Given the description of an element on the screen output the (x, y) to click on. 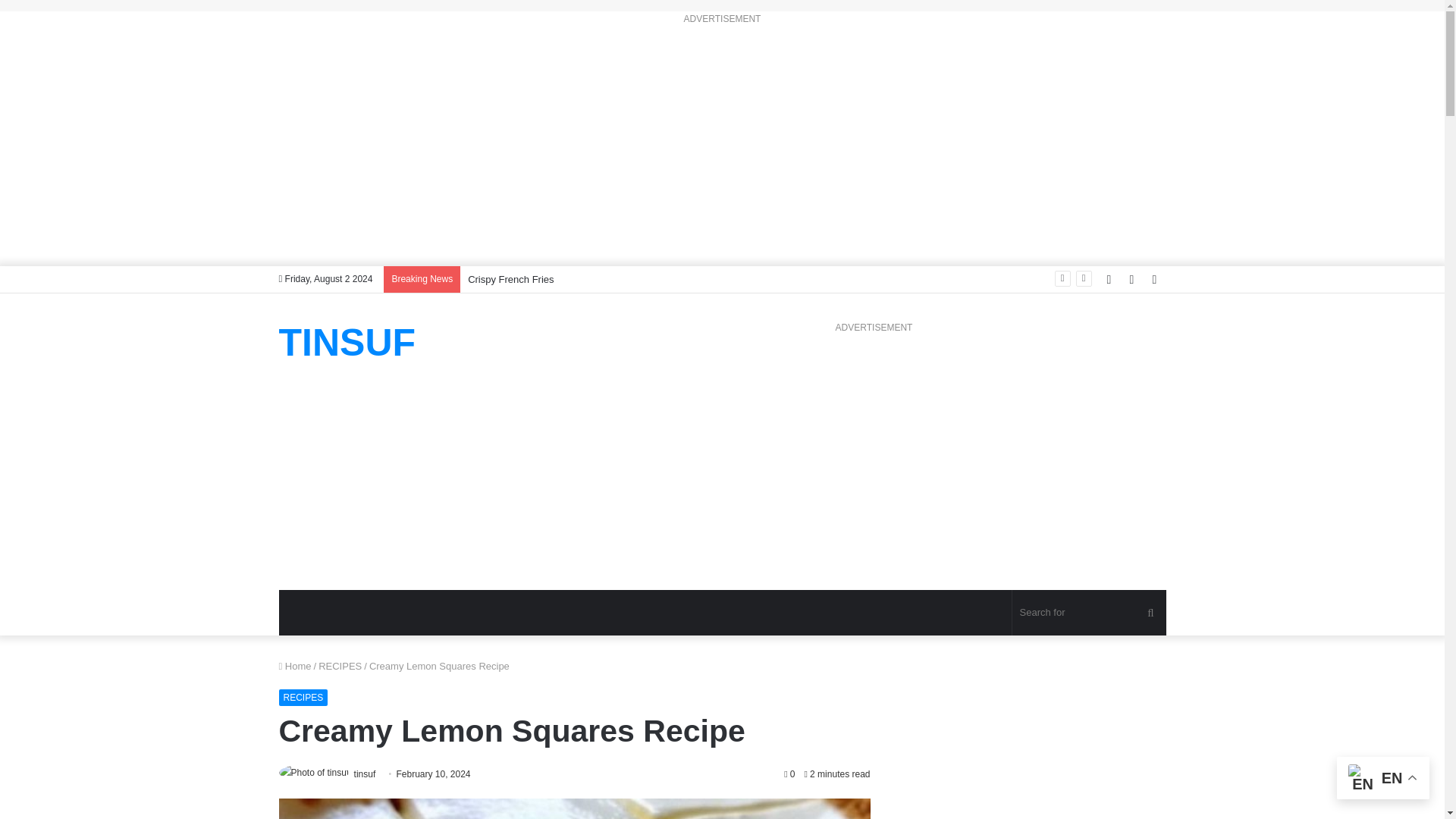
TINSUF (347, 342)
Crispy French Fries (510, 279)
Home (295, 665)
RECIPES (339, 665)
Search for (1088, 612)
RECIPES (304, 697)
TINSUF (347, 342)
